Given the description of an element on the screen output the (x, y) to click on. 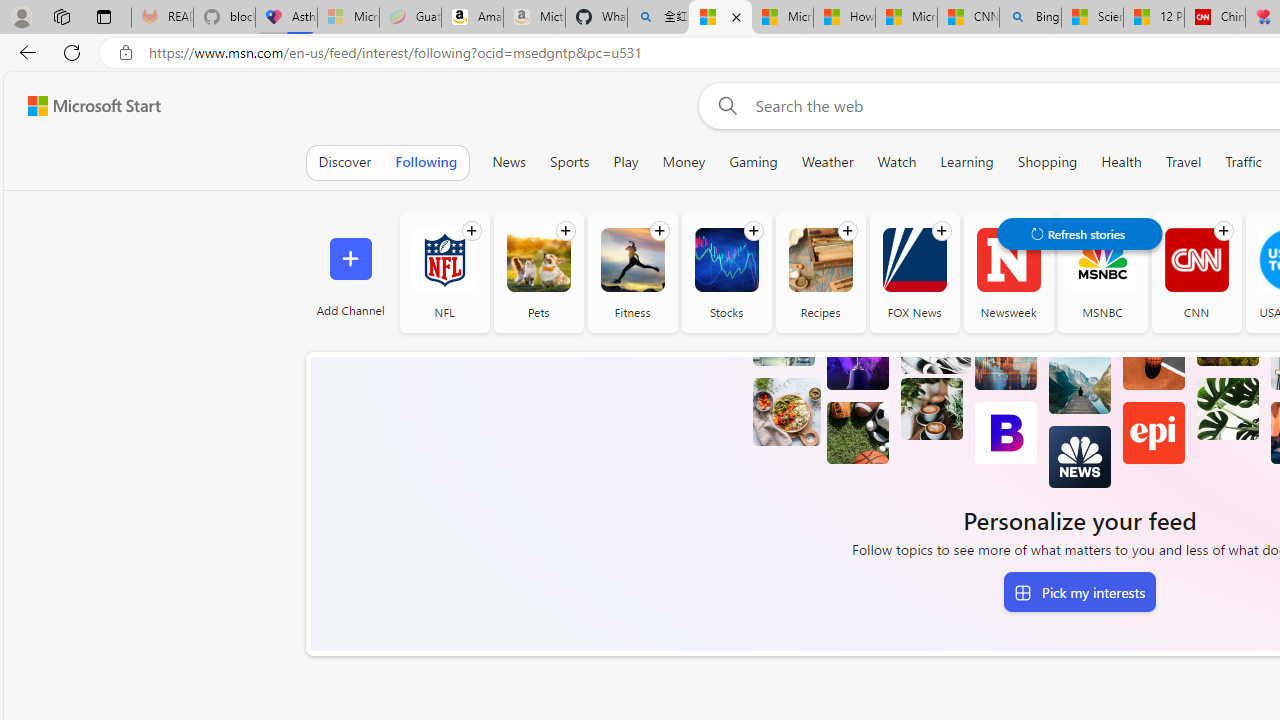
Weather (827, 162)
Newsweek (1007, 272)
How I Got Rid of Microsoft Edge's Unnecessary Features (844, 17)
Science - MSN (1092, 17)
Follow channel (1223, 231)
Stocks (726, 260)
12 Popular Science Lies that Must be Corrected (1153, 17)
Traffic (1243, 162)
Learning (967, 162)
Pets (537, 260)
Discover (344, 161)
Shopping (1047, 161)
Newsweek (1007, 260)
